Given the description of an element on the screen output the (x, y) to click on. 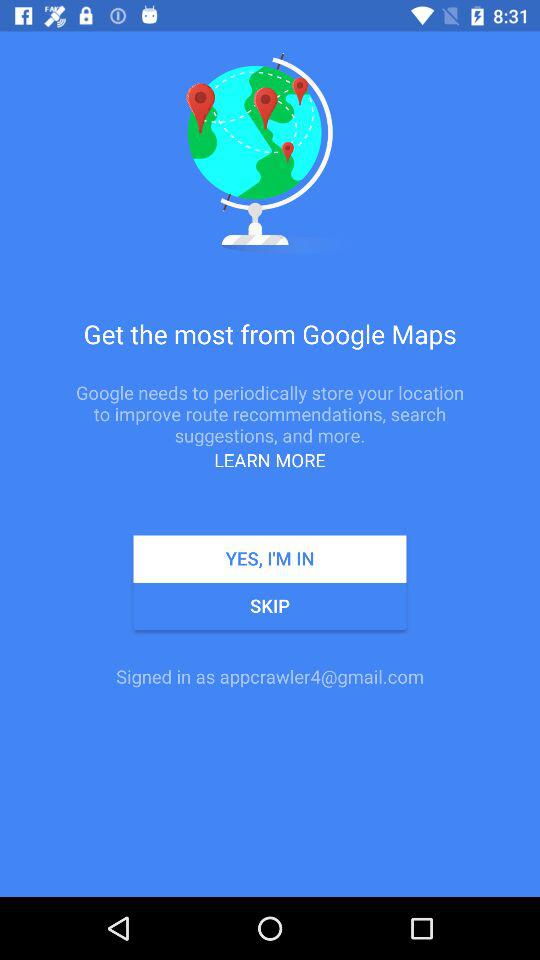
turn off the item below the learn more app (269, 558)
